Given the description of an element on the screen output the (x, y) to click on. 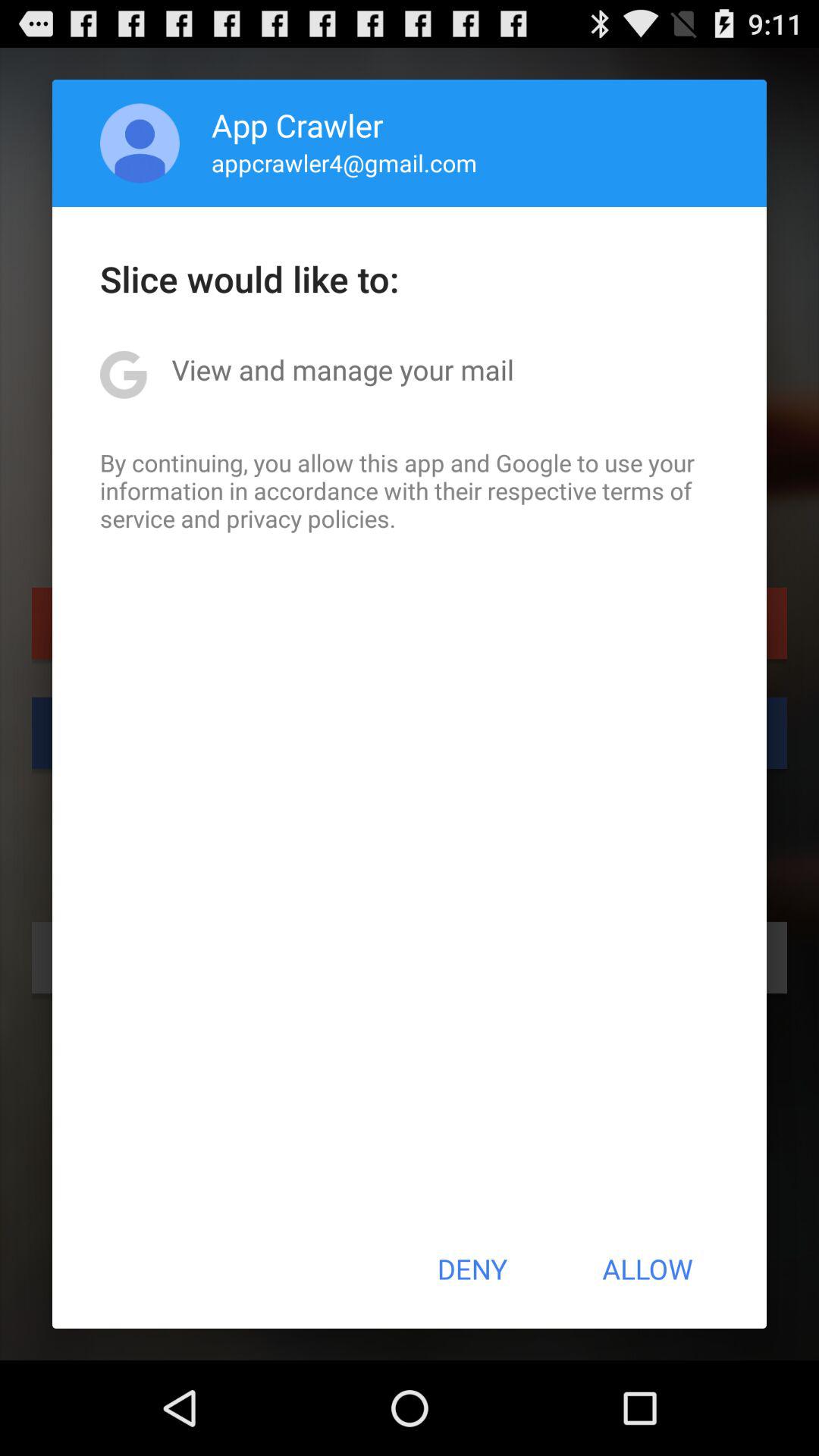
open deny at the bottom (471, 1268)
